Given the description of an element on the screen output the (x, y) to click on. 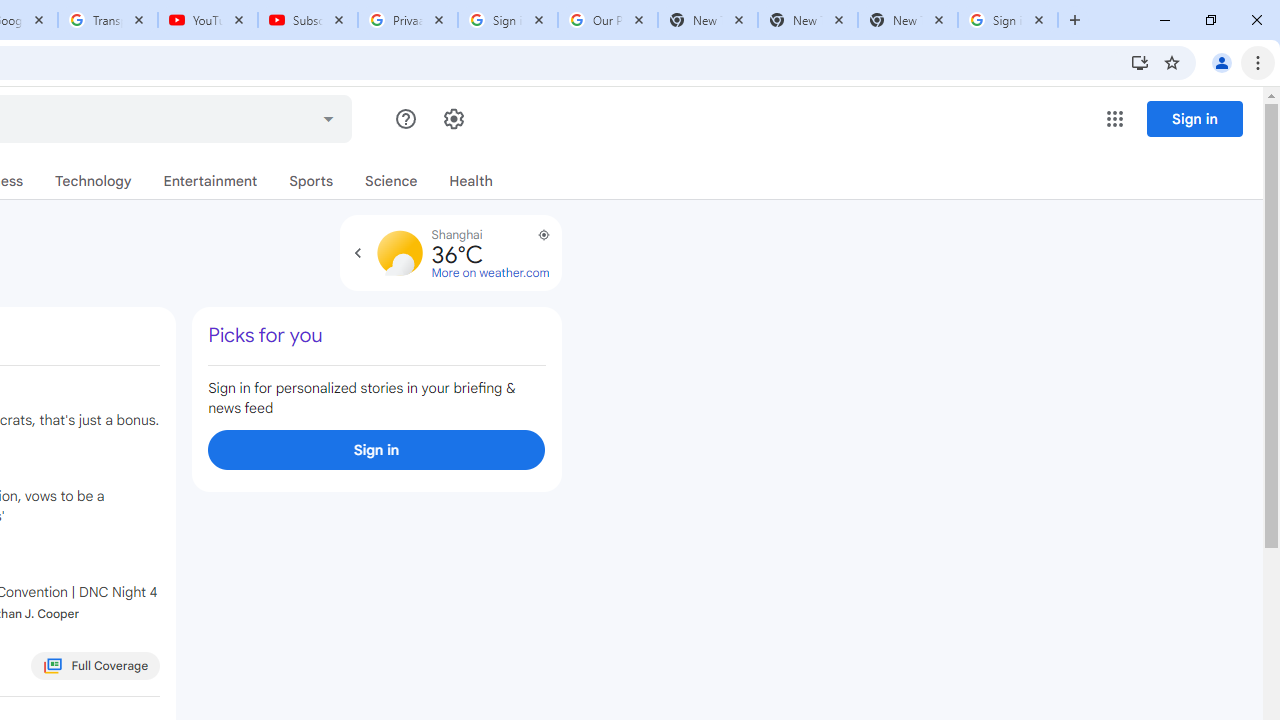
New Tab (907, 20)
Technology (93, 181)
Subscriptions - YouTube (308, 20)
Entertainment (210, 181)
